Given the description of an element on the screen output the (x, y) to click on. 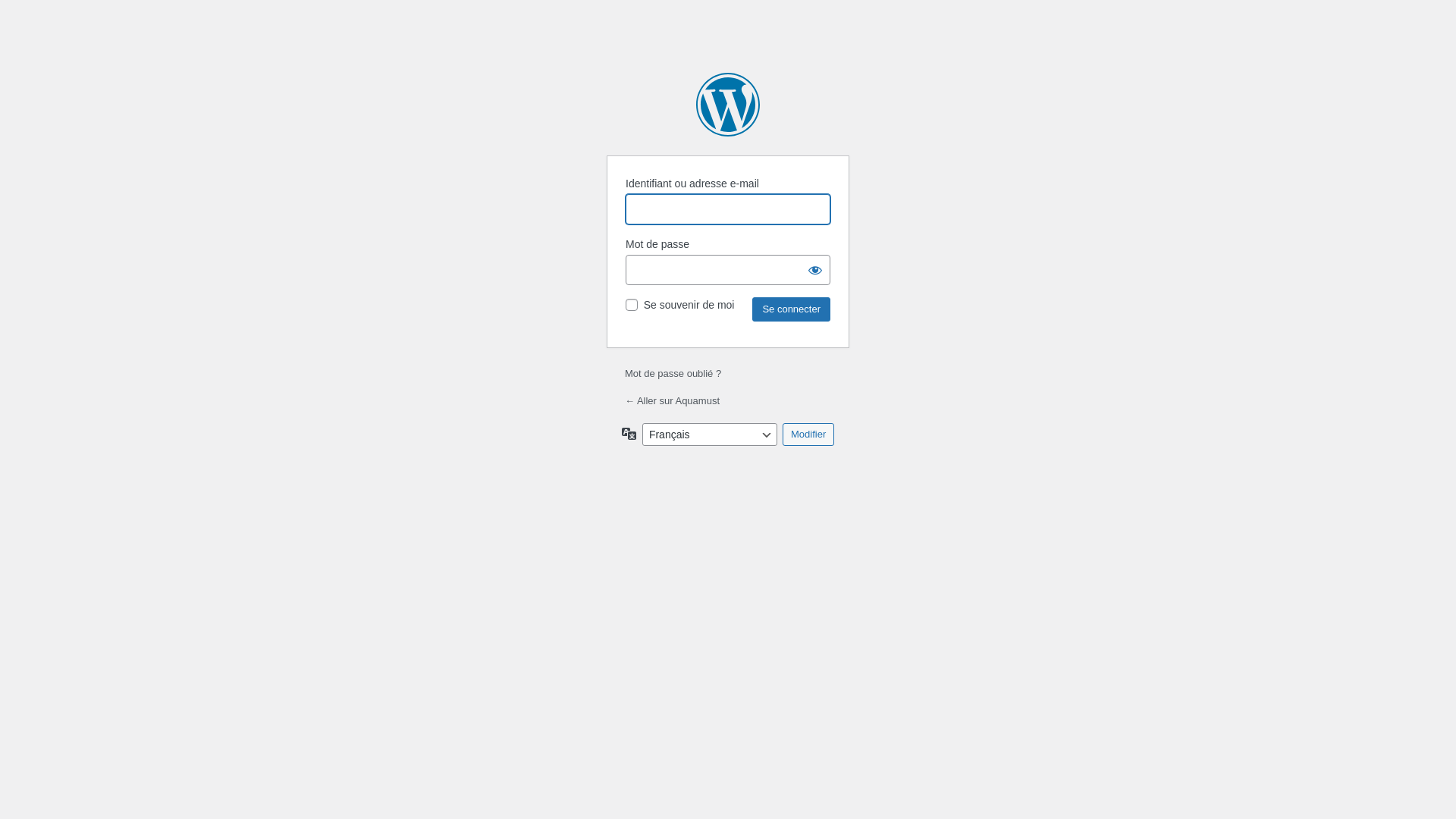
Se connecter Element type: text (791, 309)
Modifier Element type: text (808, 434)
